Given the description of an element on the screen output the (x, y) to click on. 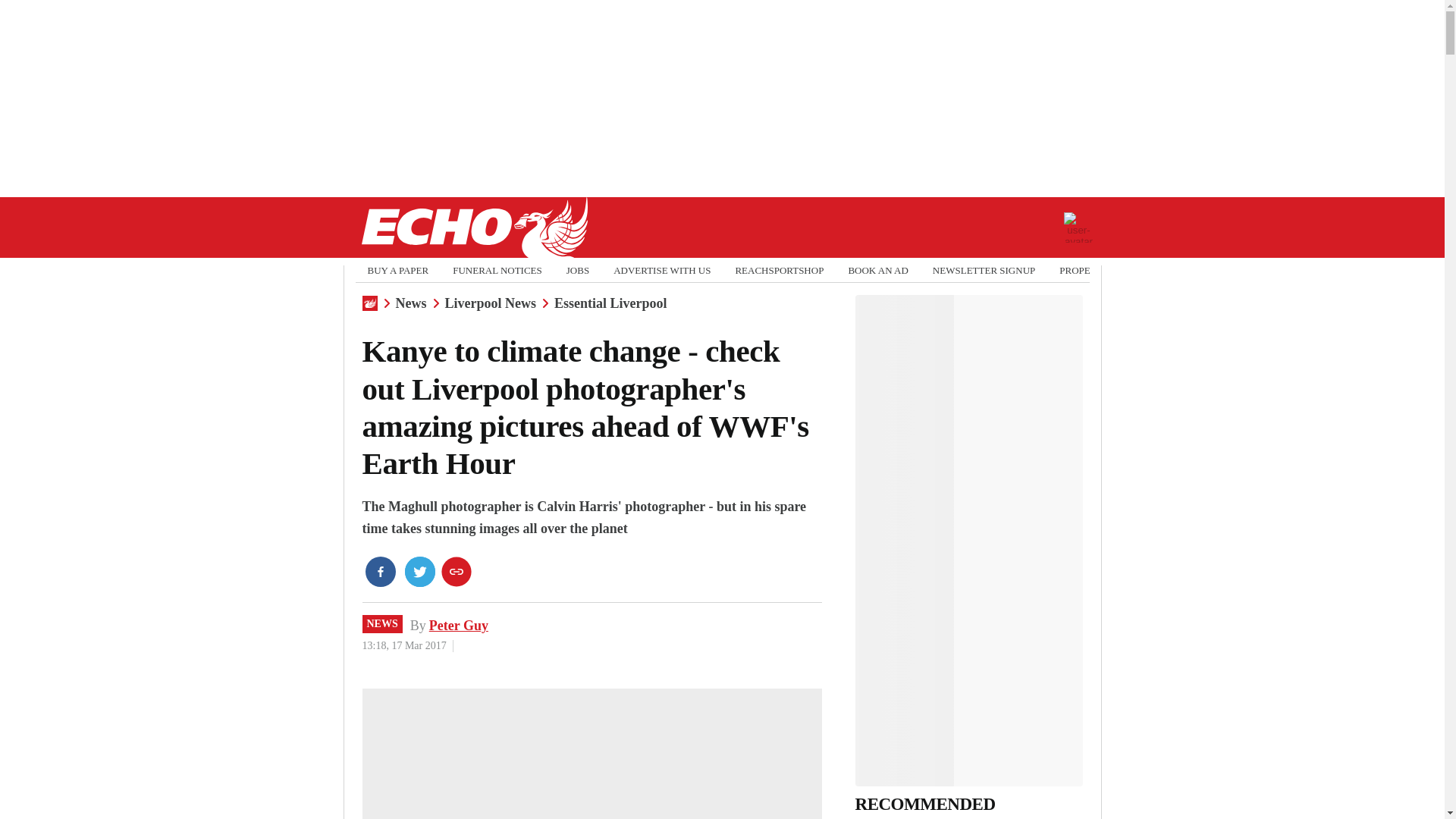
copy link (456, 571)
PROPERTY (1084, 270)
Essential Liverpool (610, 303)
Go to the Liverpool Echo homepage (473, 227)
REACHSPORTSHOP (779, 270)
ADVERTISE WITH US (661, 270)
NEWS (382, 624)
BOOK AN AD (877, 270)
FUNERAL NOTICES (496, 270)
News (411, 303)
